Given the description of an element on the screen output the (x, y) to click on. 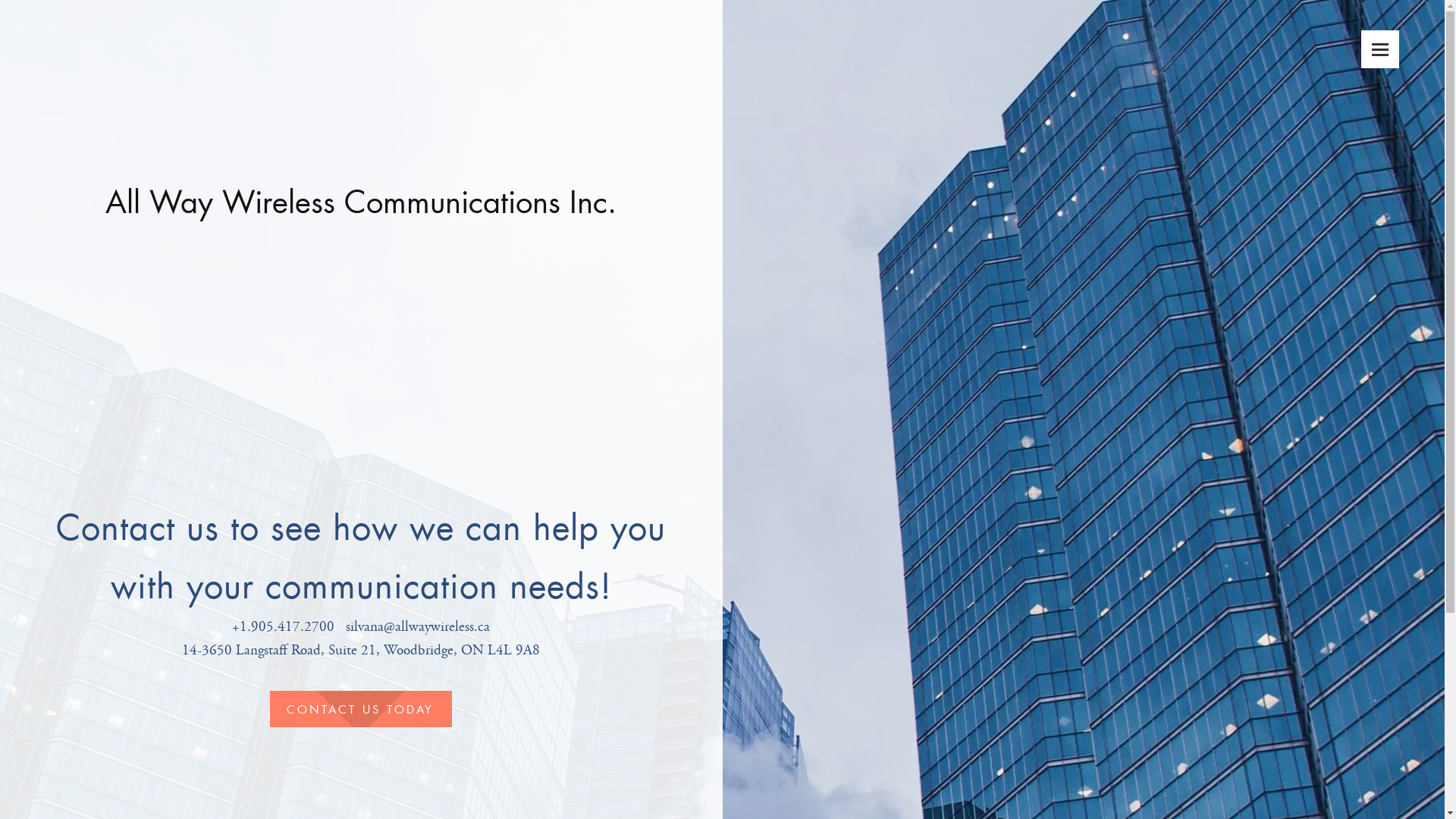
CONTACT US TODAY Element type: text (360, 708)
All Way Wireless Communications Inc. Element type: text (360, 200)
